Given the description of an element on the screen output the (x, y) to click on. 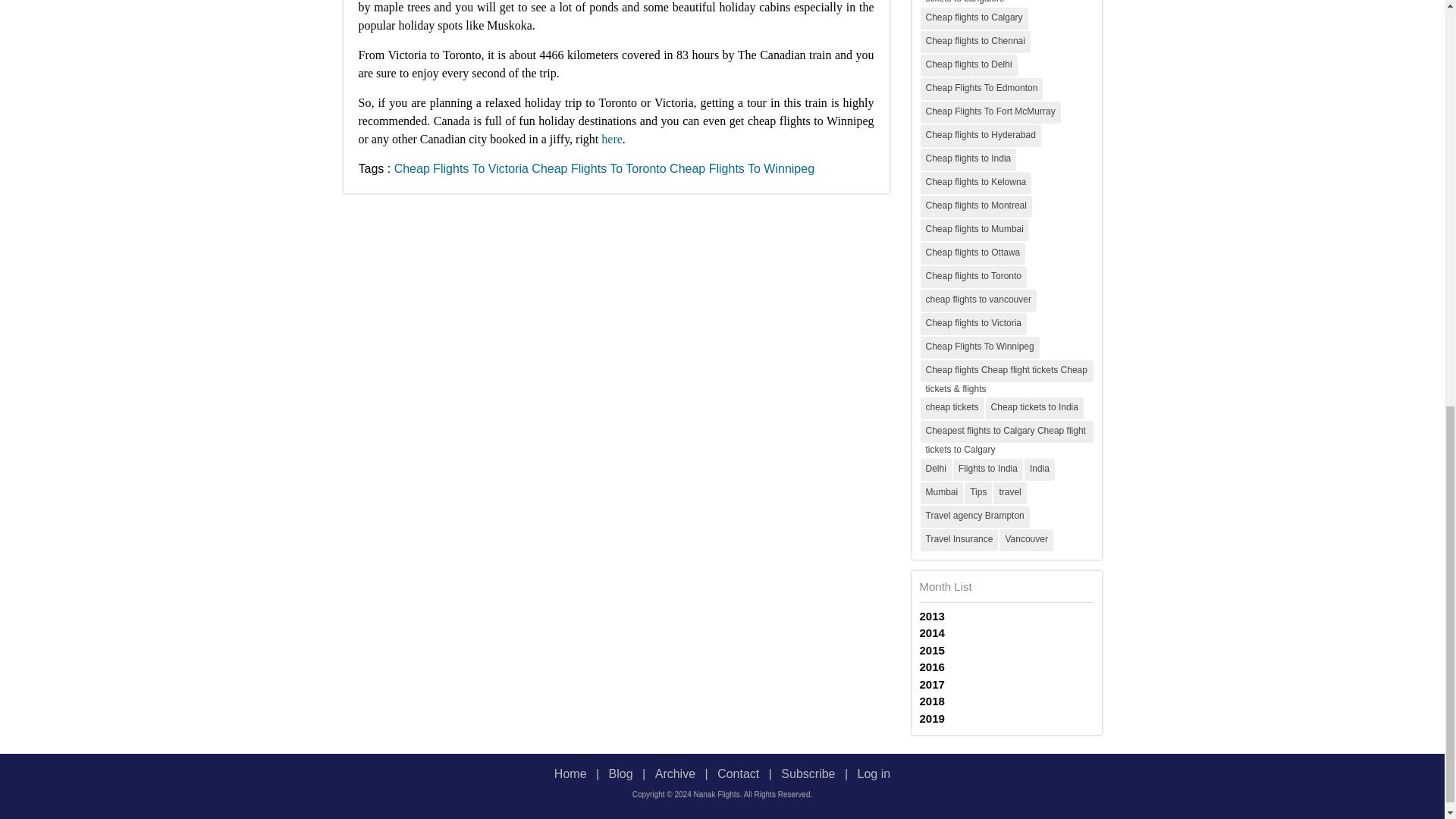
Cheap Flights To Fort McMurray (990, 112)
Cheap flights to Delhi (968, 65)
Cheap flights to Montreal (976, 206)
Cheap Flights To Edmonton (981, 87)
Cheap flights to Kelowna (976, 182)
Cheap flights to Calgary (973, 18)
Cheap flights to India (968, 159)
Cheap flights to Hyderabad (980, 135)
here (612, 137)
Cheap flights to Chennai (975, 41)
